Given the description of an element on the screen output the (x, y) to click on. 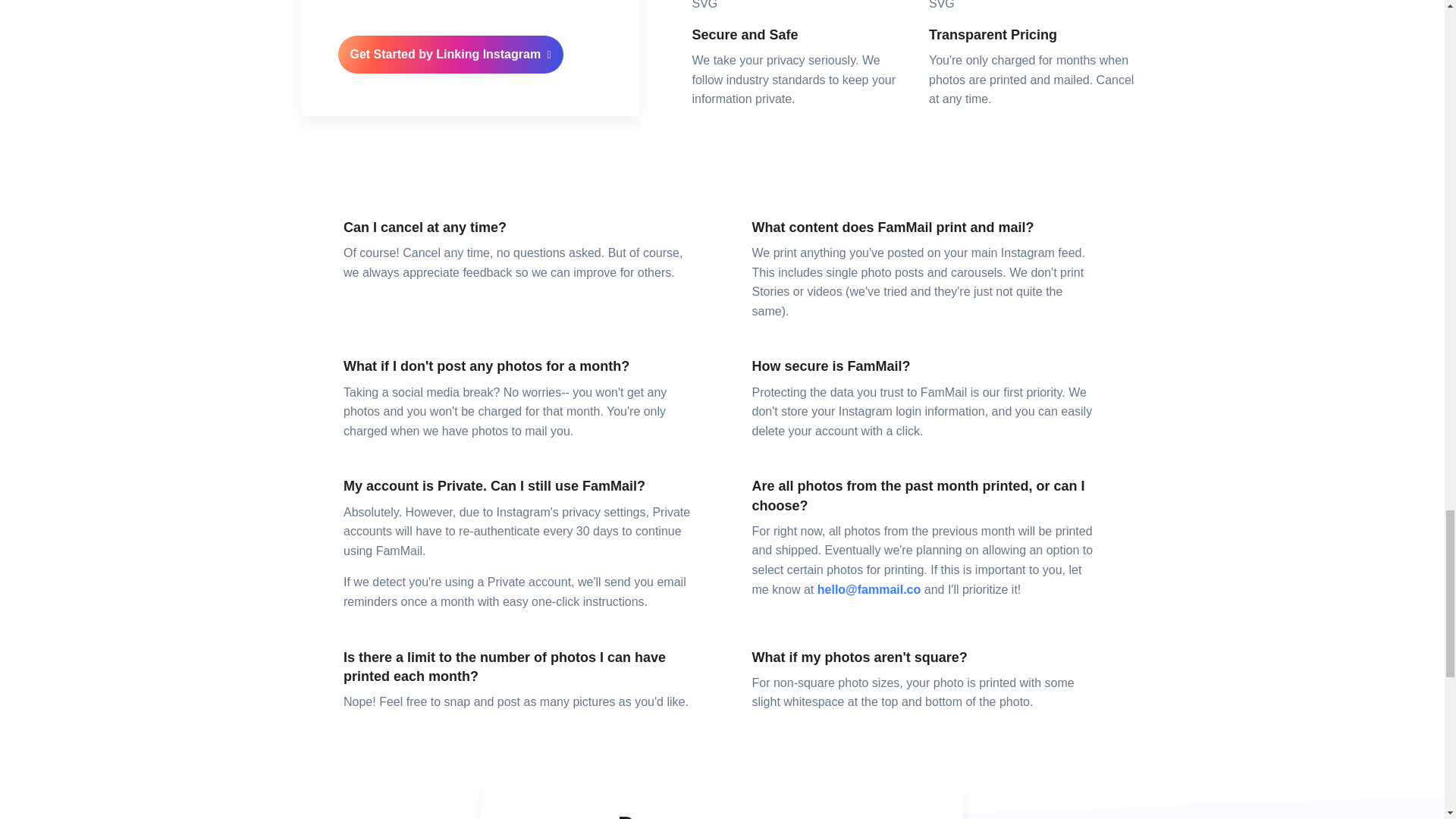
Get Started by Linking Instagram (450, 54)
